Given the description of an element on the screen output the (x, y) to click on. 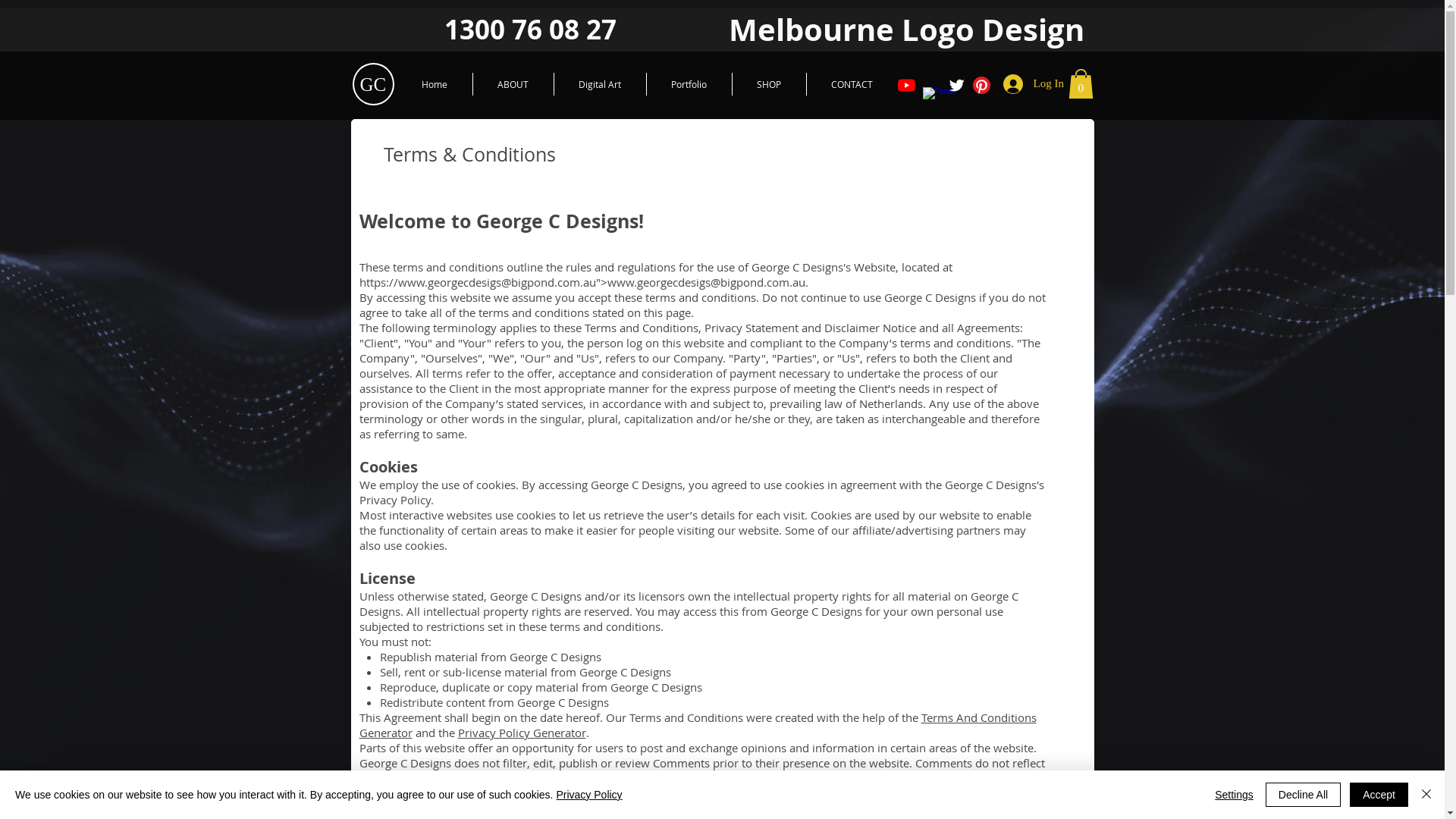
SHOP Element type: text (769, 83)
CONTACT Element type: text (851, 83)
0 Element type: text (1079, 83)
Portfolio Element type: text (688, 83)
Melbourne Logo and Graphic Design Services Element type: hover (238, 85)
Log In Element type: text (1022, 83)
ABOUT Element type: text (513, 83)
www.georgecdesigs Element type: text (448, 281)
Terms And Conditions Generator Element type: text (697, 724)
www.georgecdesigs Element type: text (657, 281)
Privacy Policy Generator Element type: text (522, 732)
Home Element type: text (434, 83)
Privacy Policy Element type: text (588, 794)
Decline All Element type: text (1302, 794)
Digital Art Element type: text (599, 83)
Accept Element type: text (1378, 794)
GC Element type: text (372, 84)
